Given the description of an element on the screen output the (x, y) to click on. 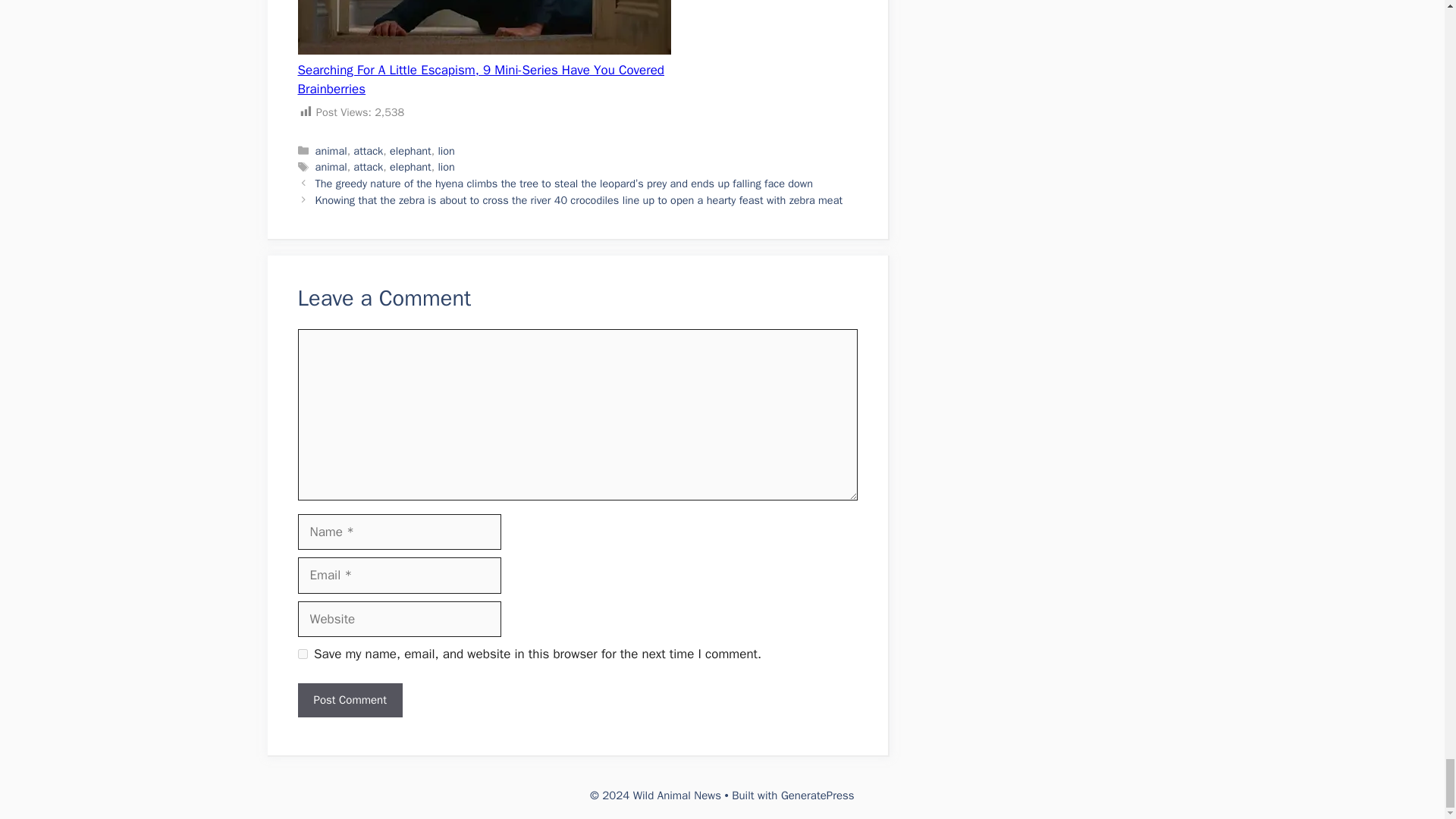
Post Comment (349, 700)
animal (331, 151)
yes (302, 654)
animal (331, 166)
elephant (410, 151)
lion (446, 166)
attack (367, 166)
elephant (410, 166)
GeneratePress (817, 795)
Post Comment (349, 700)
attack (367, 151)
lion (446, 151)
